Given the description of an element on the screen output the (x, y) to click on. 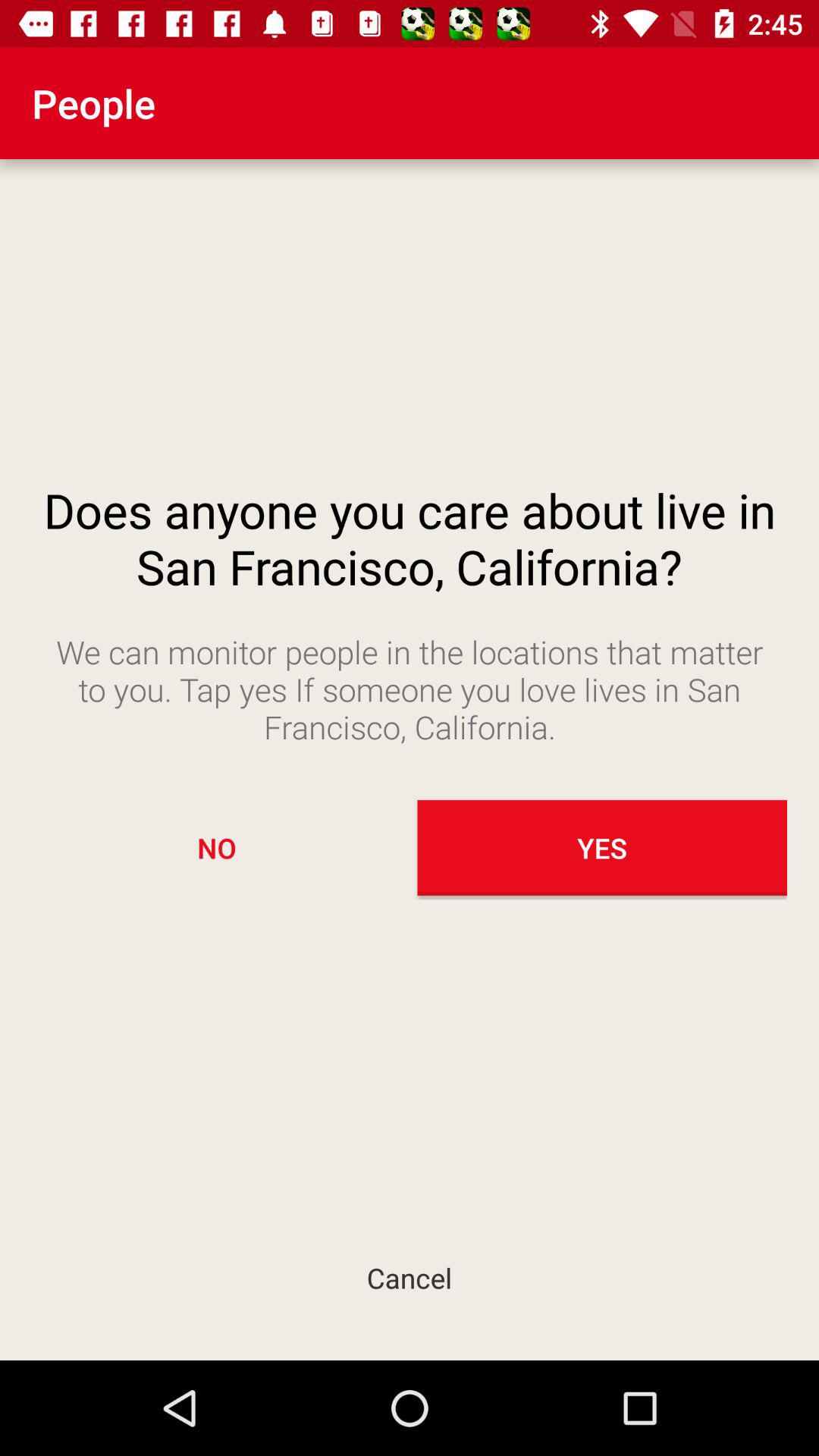
tap cancel icon (409, 1277)
